Given the description of an element on the screen output the (x, y) to click on. 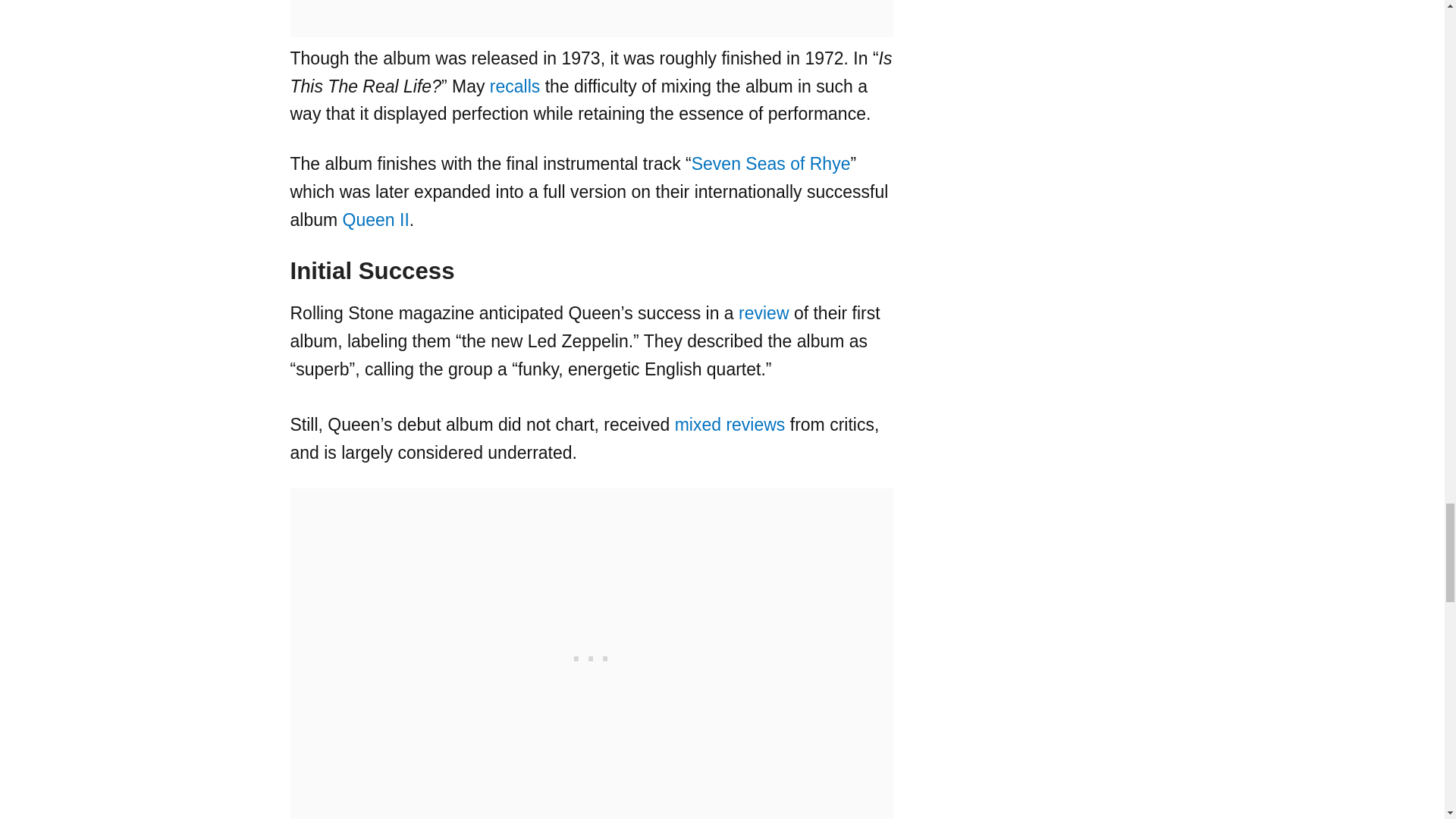
mixed reviews (730, 424)
review (763, 312)
Seven Seas of Rhye (770, 163)
recalls (514, 86)
Queen II (375, 219)
